Given the description of an element on the screen output the (x, y) to click on. 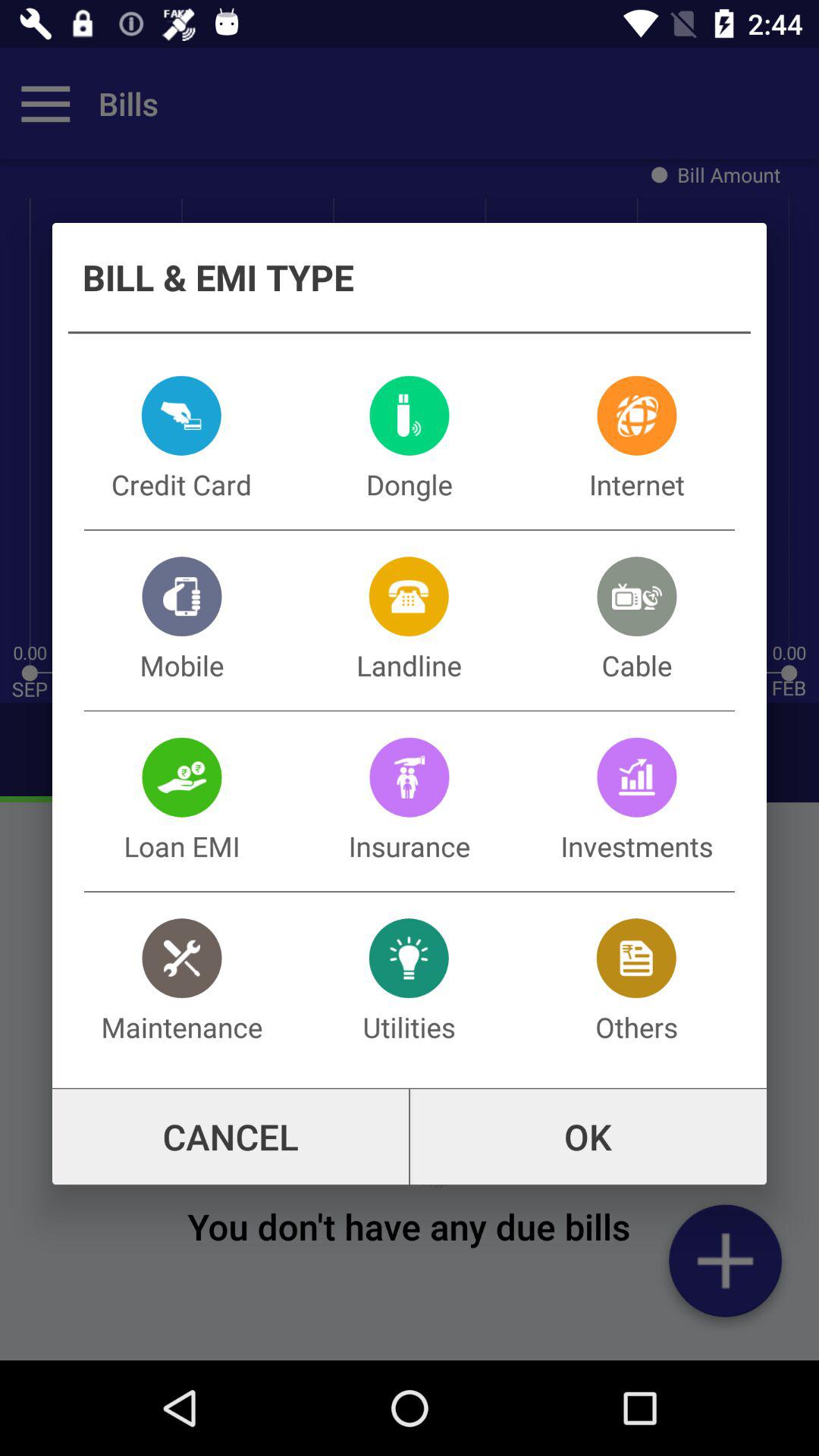
swipe to ok icon (588, 1136)
